Given the description of an element on the screen output the (x, y) to click on. 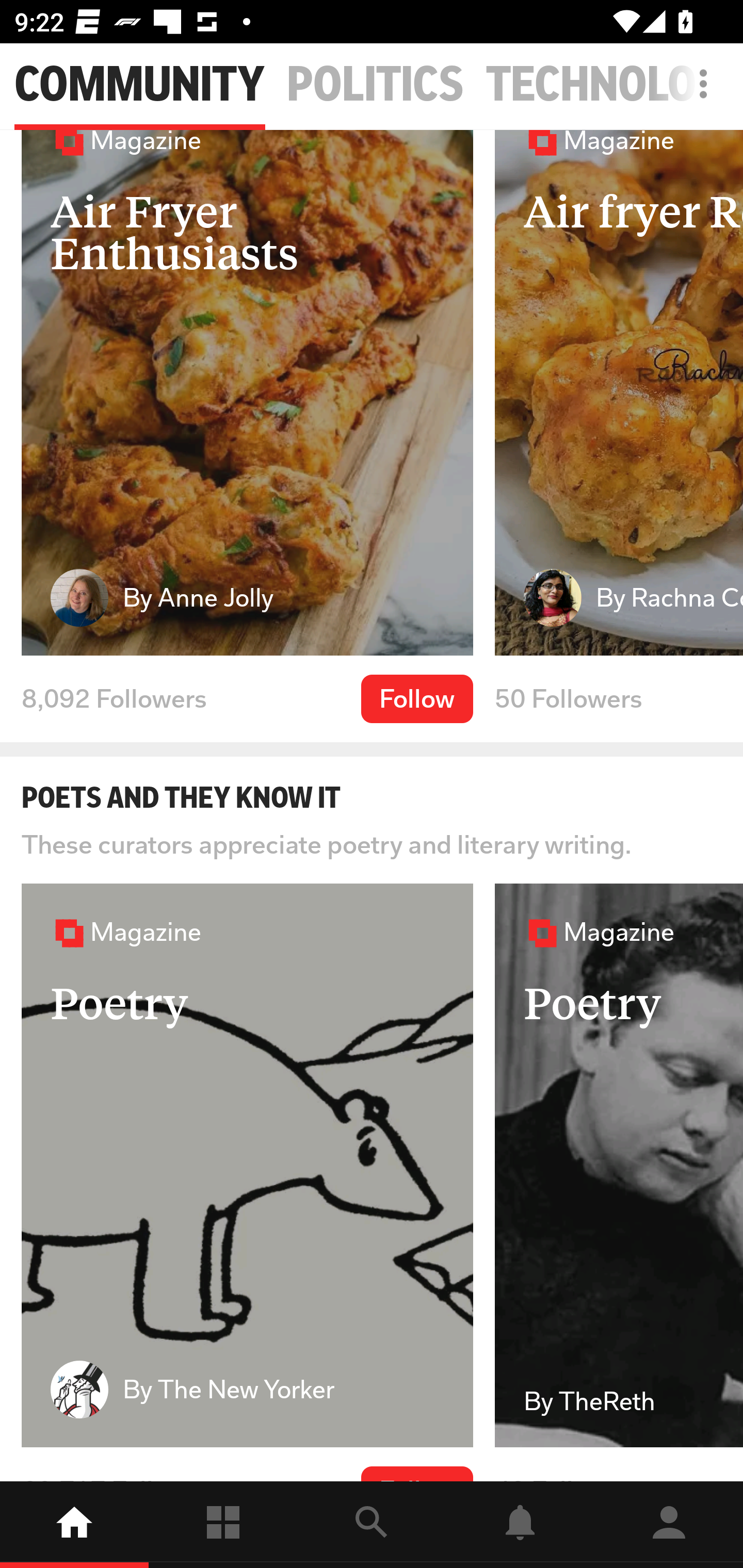
COMMUNITY (139, 84)
POLITICS (375, 84)
TECHNOLOGY (614, 84)
Edit Home (697, 83)
Follow (417, 698)
home (74, 1524)
Following (222, 1524)
explore (371, 1524)
Notifications (519, 1524)
Profile (668, 1524)
